Given the description of an element on the screen output the (x, y) to click on. 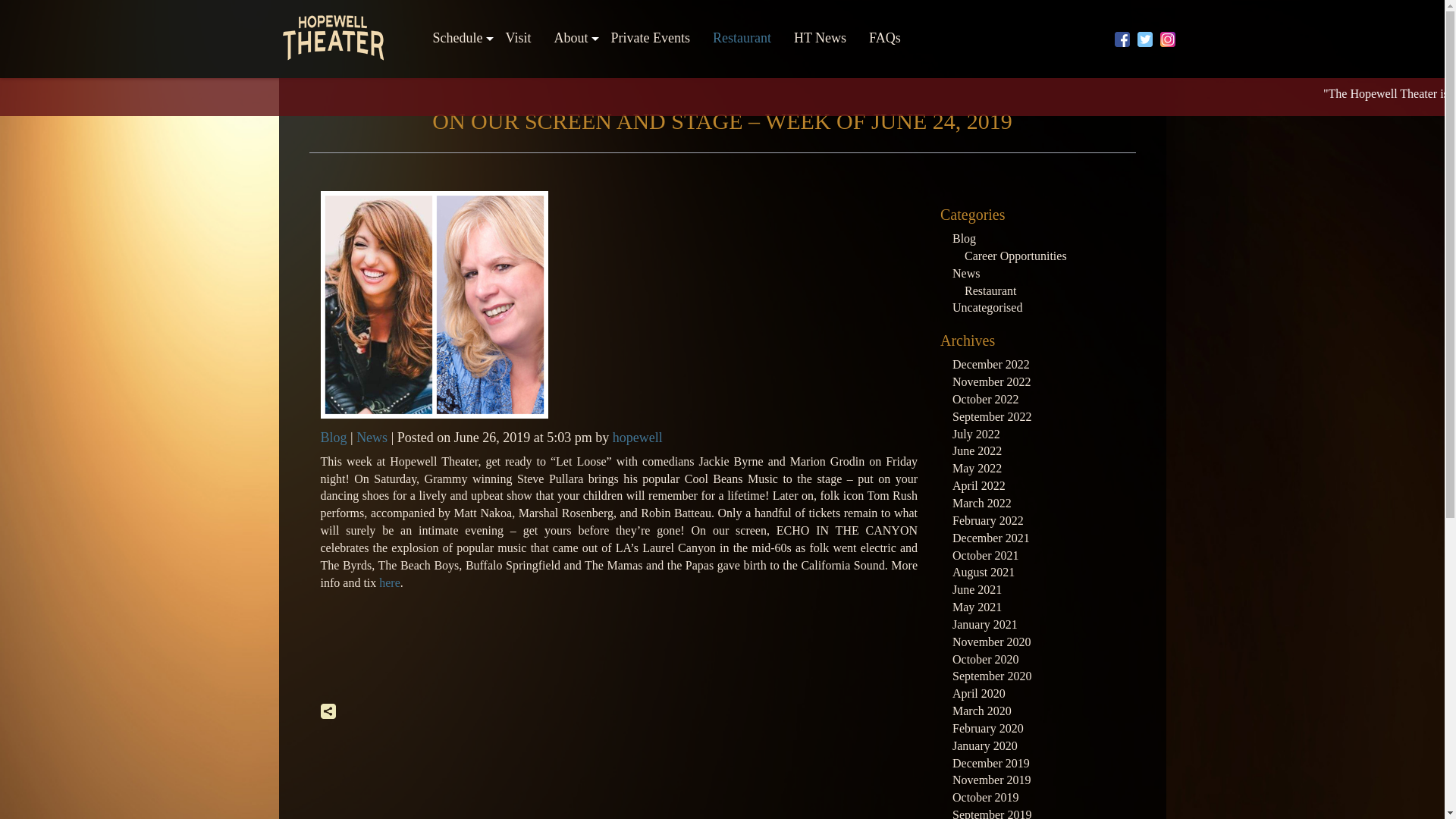
September 2022 (991, 416)
here (389, 582)
Private Events (649, 38)
November 2022 (991, 381)
Schedule (458, 38)
Blog (333, 437)
News (371, 437)
Posts by hopewell (637, 437)
Restaurant (742, 38)
June 2022 (976, 450)
Career Opportunities (1015, 255)
December 2022 (990, 364)
Restaurant (989, 290)
July 2022 (976, 433)
HT News (820, 38)
